Given the description of an element on the screen output the (x, y) to click on. 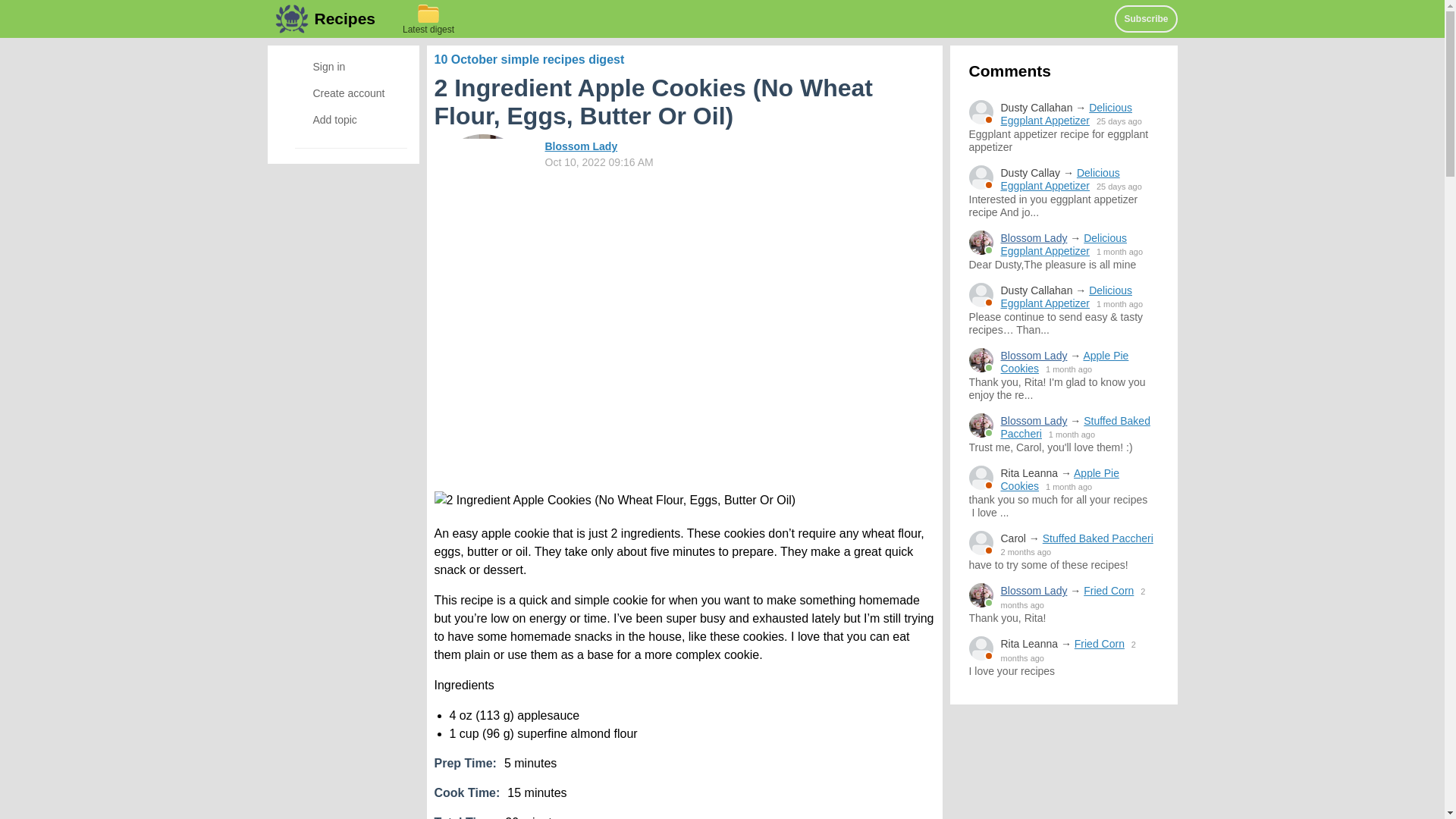
Add topic (342, 119)
Blossom Lady (1034, 590)
Delicious Eggplant Appetizer (1060, 179)
Online (980, 425)
Latest digest (427, 18)
Subscribe (1145, 18)
Blossom Lady (1034, 355)
Stuffed Baked Paccheri (1099, 538)
Stuffed Baked Paccheri (1075, 426)
Delicious Eggplant Appetizer (1063, 244)
